Given the description of an element on the screen output the (x, y) to click on. 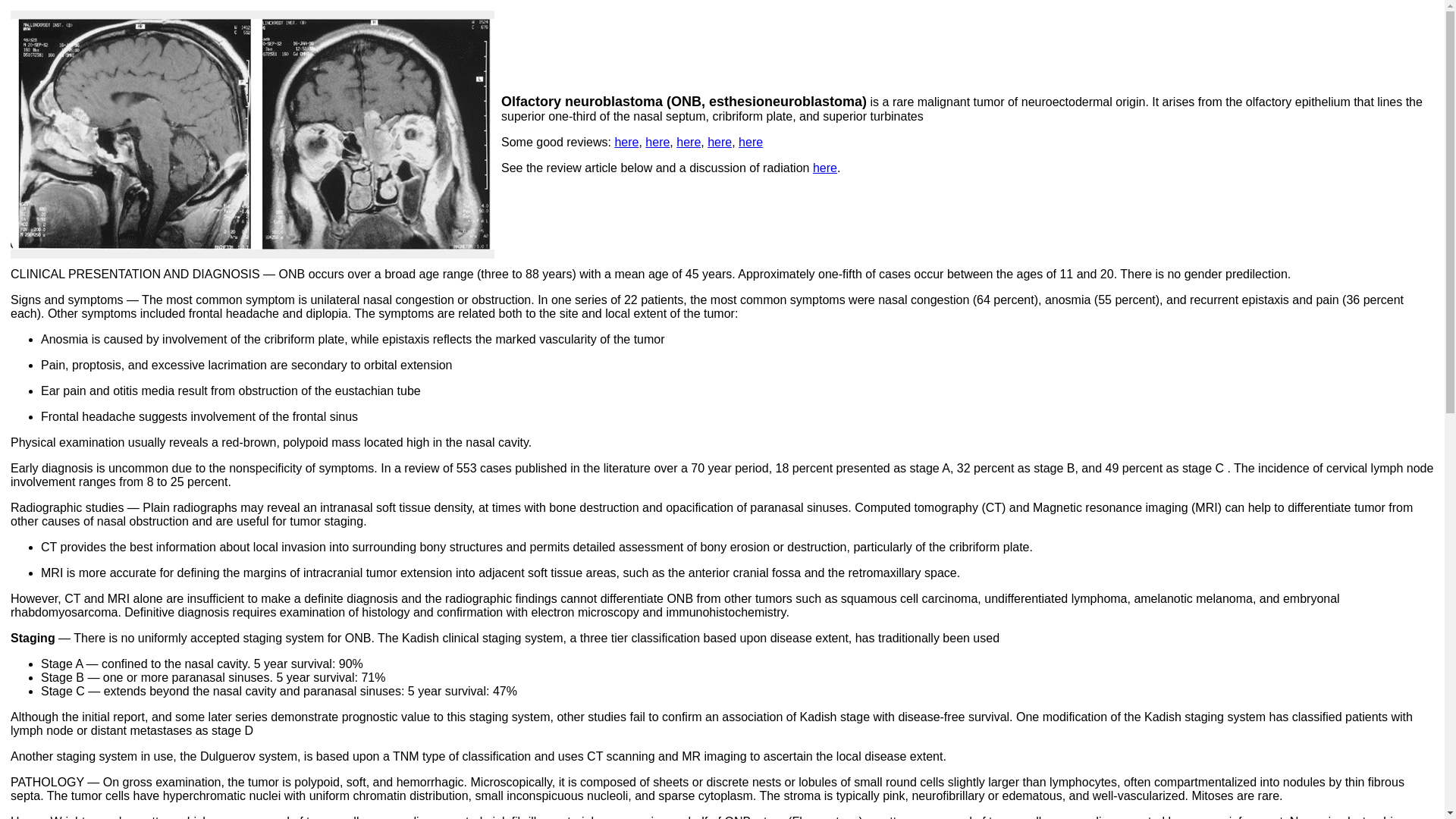
here (824, 167)
here (719, 141)
here (750, 141)
here (688, 141)
here (657, 141)
here (626, 141)
